Given the description of an element on the screen output the (x, y) to click on. 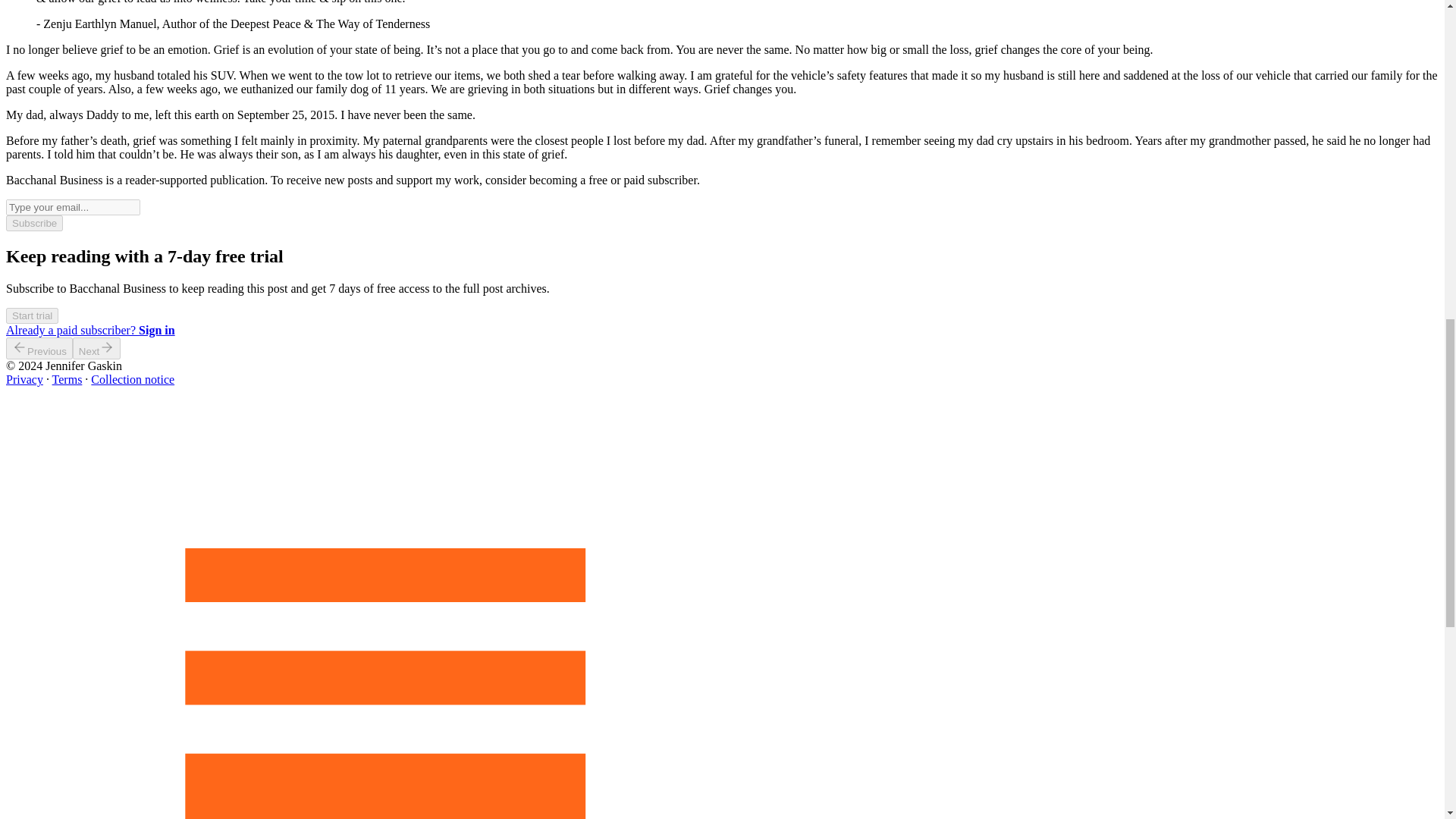
Terms (67, 379)
Collection notice (132, 379)
Subscribe (33, 222)
Previous (38, 348)
Start trial (31, 315)
Privacy (24, 379)
Start trial (31, 314)
Already a paid subscriber? Sign in (89, 329)
Next (96, 348)
